Given the description of an element on the screen output the (x, y) to click on. 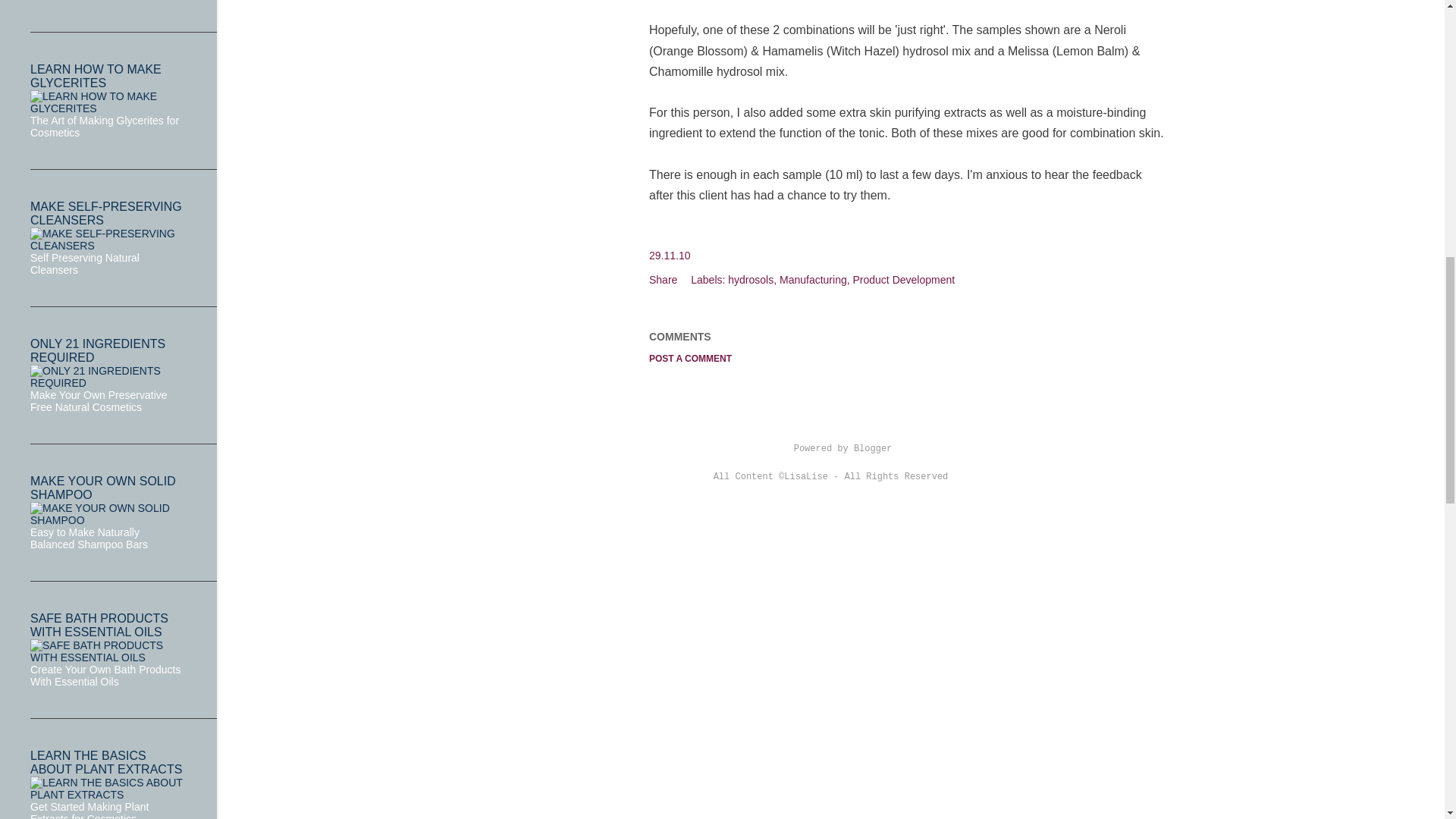
Product Development (903, 279)
permanent link (669, 255)
Manufacturing (814, 279)
Share (663, 279)
hydrosols (752, 279)
29.11.10 (669, 255)
POST A COMMENT (690, 357)
